Given the description of an element on the screen output the (x, y) to click on. 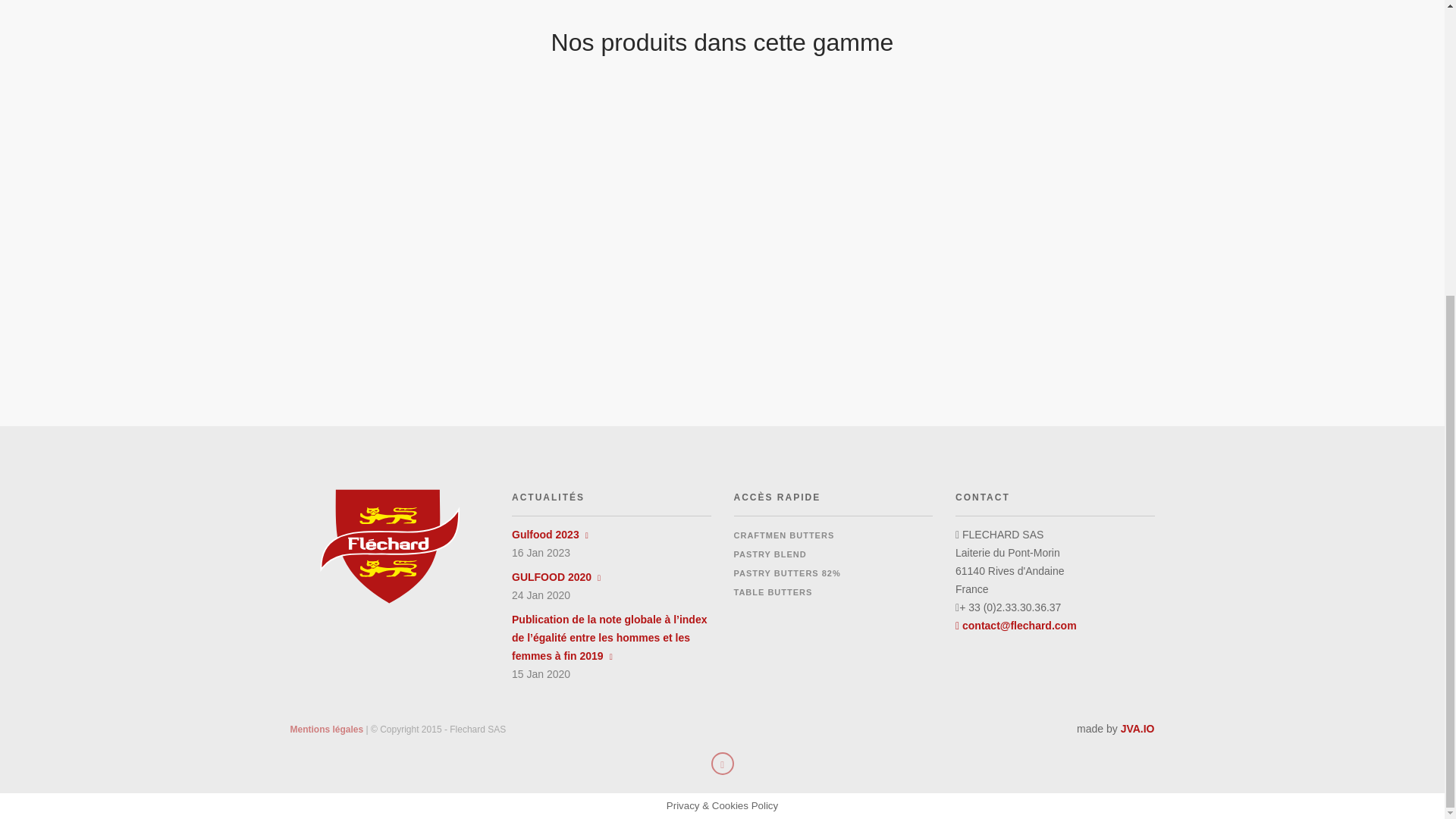
GULFOOD 2020 (555, 576)
PASTRY BLEND (769, 553)
Gulfood 2023 (550, 534)
Craftmen butters (783, 534)
CRAFTMEN BUTTERS (783, 534)
TABLE BUTTERS (772, 592)
JVA.IO (1137, 728)
